Given the description of an element on the screen output the (x, y) to click on. 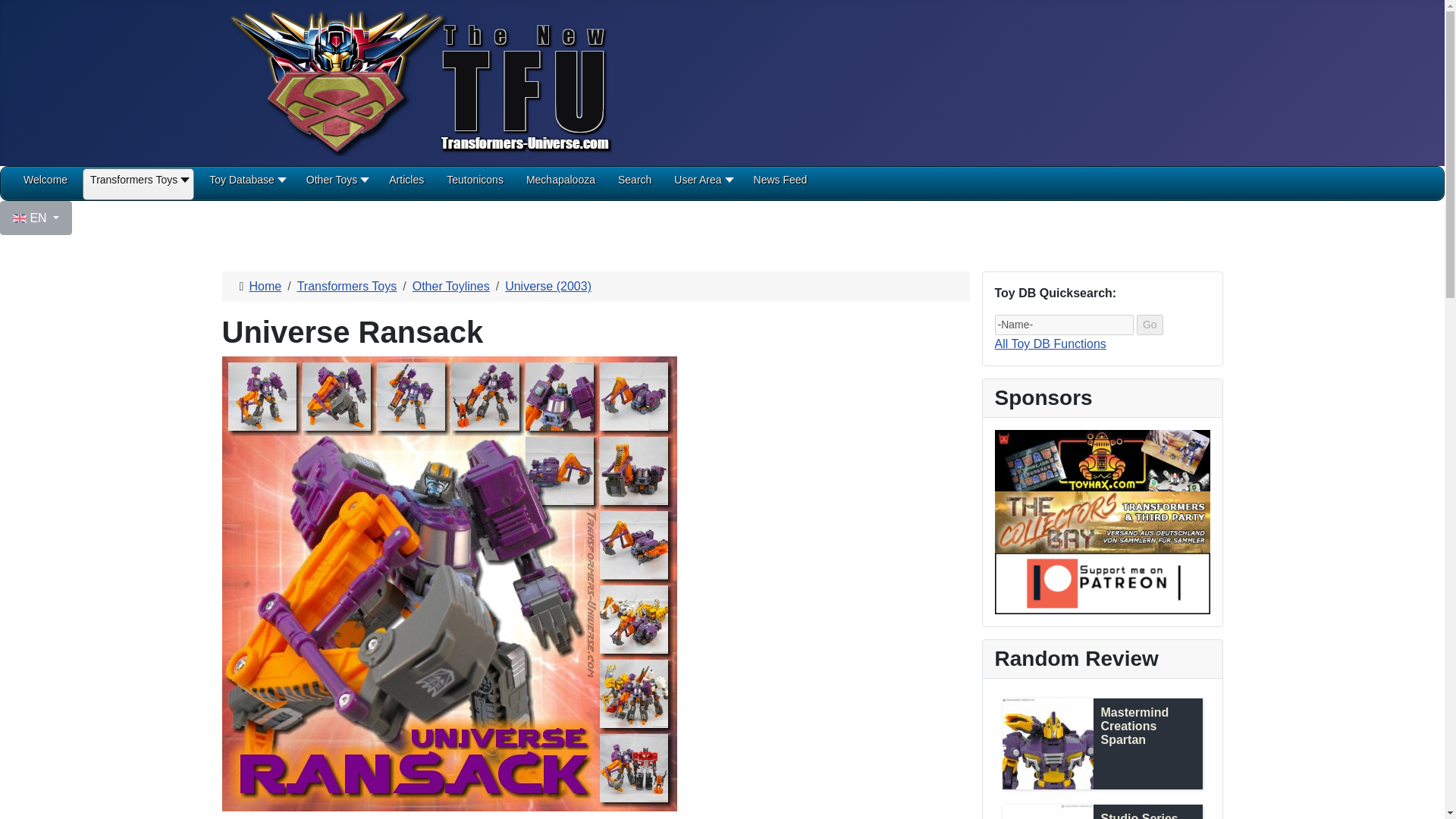
Go (1150, 324)
-Name- (1064, 324)
Welcome (44, 184)
Transformers Toys (138, 184)
